Given the description of an element on the screen output the (x, y) to click on. 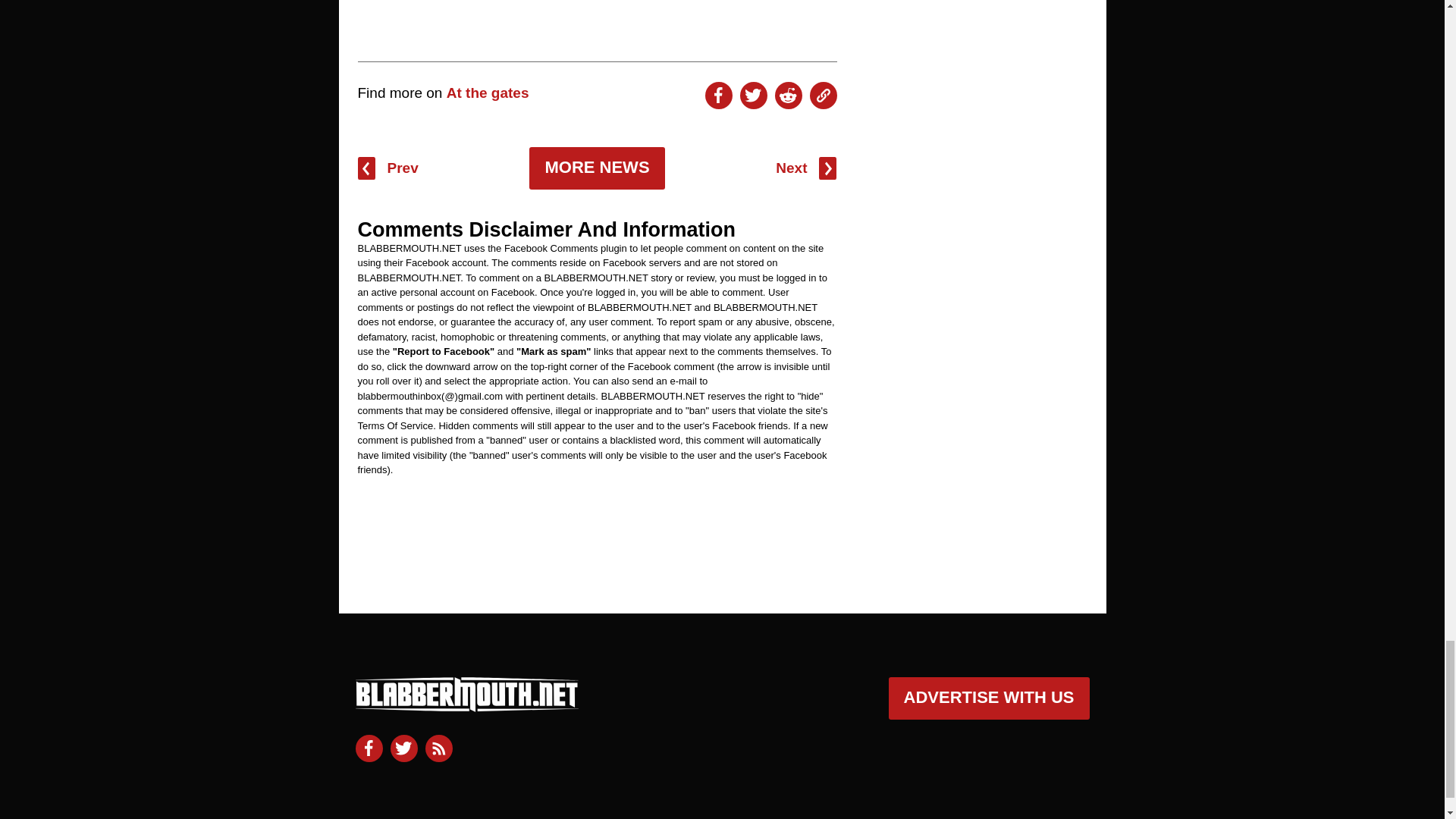
Next (805, 168)
blabbermouth (466, 705)
Share On Twitter (753, 94)
Prev (388, 168)
MORE NEWS (596, 168)
Copy To Clipboard (823, 94)
Share On Facebook (718, 94)
At the gates (487, 92)
Share On Reddit (788, 94)
